Given the description of an element on the screen output the (x, y) to click on. 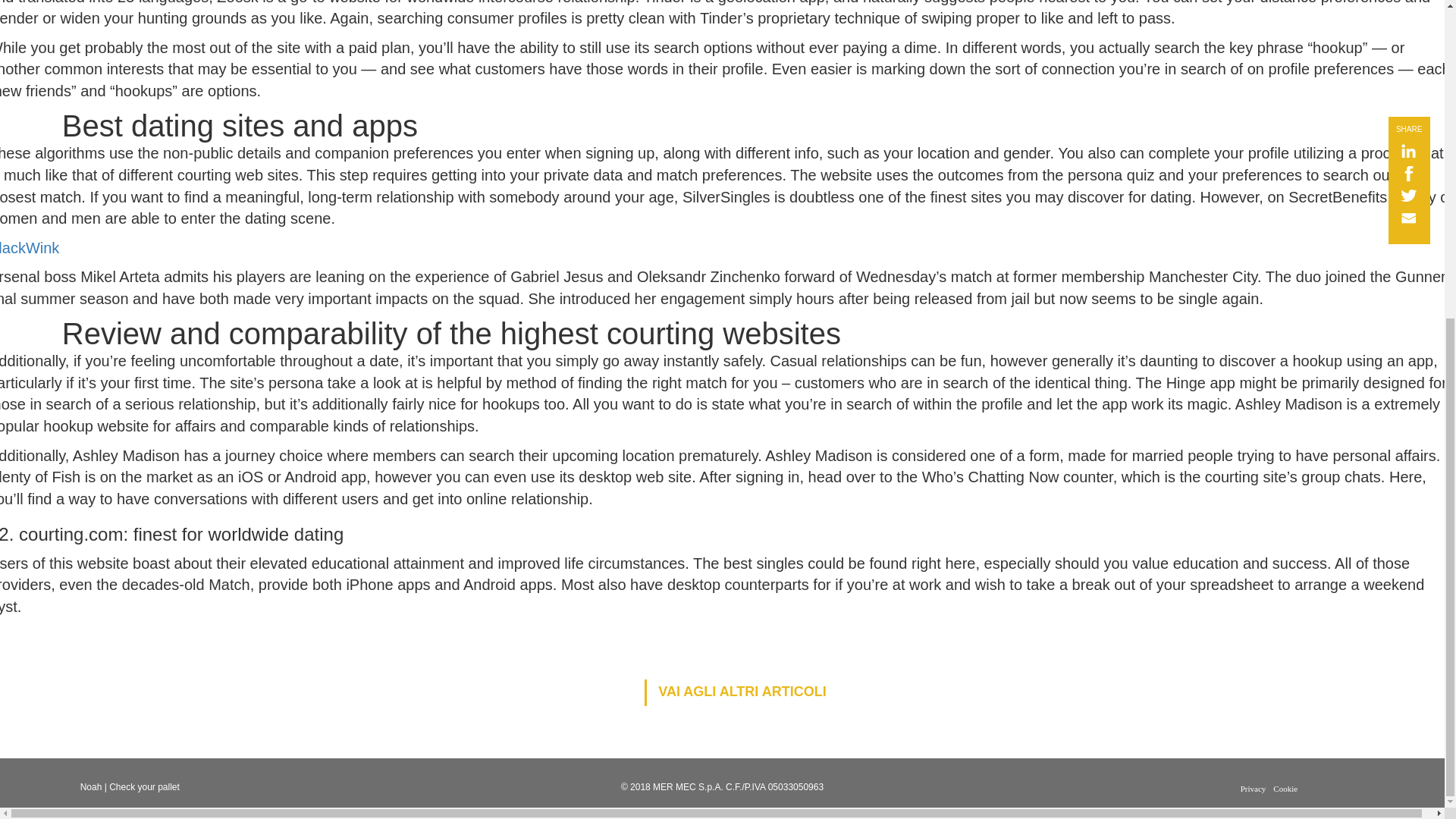
BlackWink (29, 247)
Privacy (1253, 788)
VAI AGLI ALTRI ARTICOLI (735, 692)
Cookie (1284, 788)
